Given the description of an element on the screen output the (x, y) to click on. 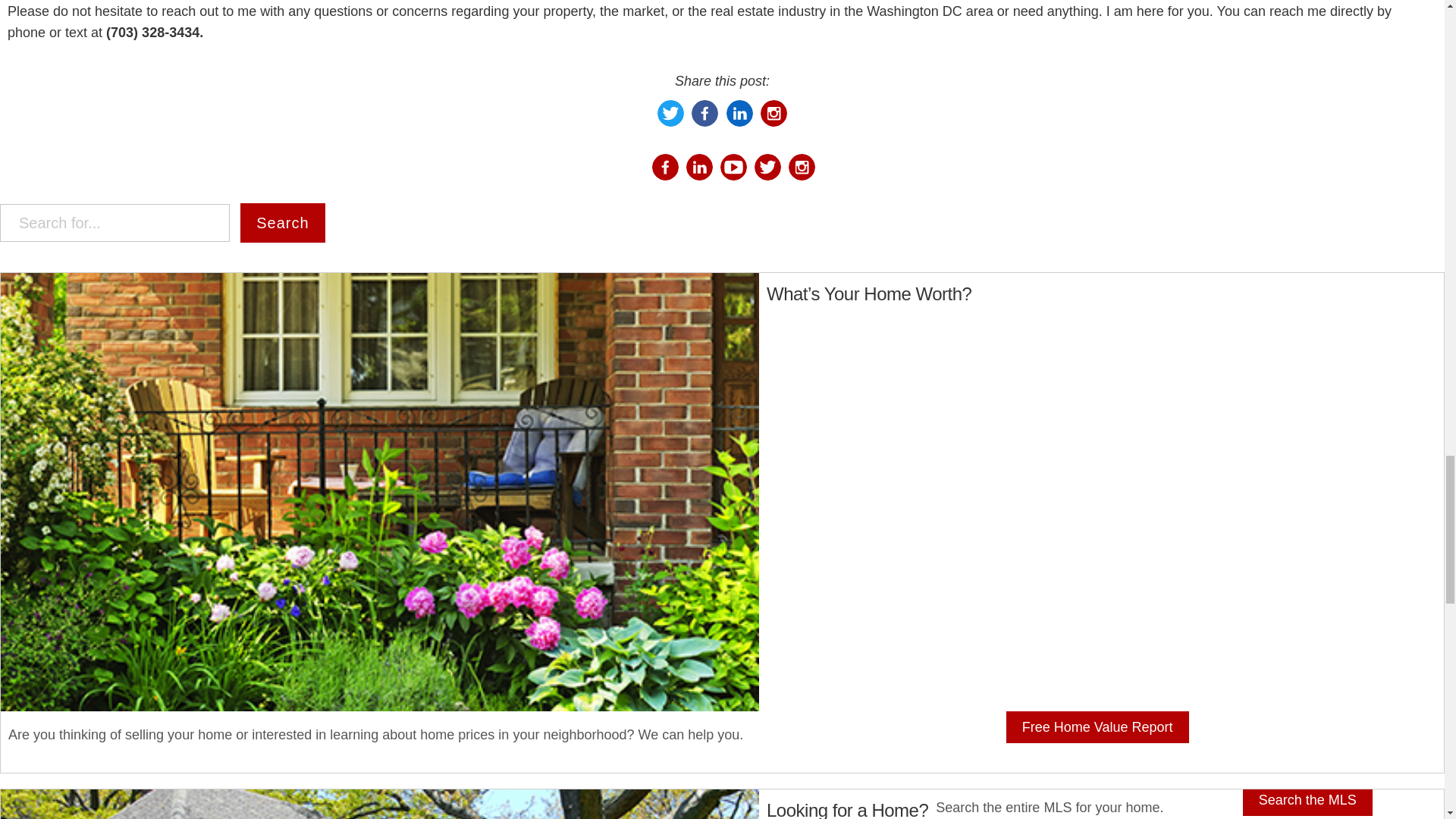
Facebook (665, 166)
Instagram (773, 112)
YouTube (733, 166)
Linkedin (739, 112)
Share on LinkedIn (739, 121)
Linkedin (699, 166)
Free Home Value Report (1097, 726)
Linkedin (699, 177)
Instagram (802, 166)
Linkedin (739, 124)
Twitter (767, 166)
Facebook (665, 178)
Instagram (773, 124)
Twitter (767, 176)
Share on Twitter (671, 121)
